Given the description of an element on the screen output the (x, y) to click on. 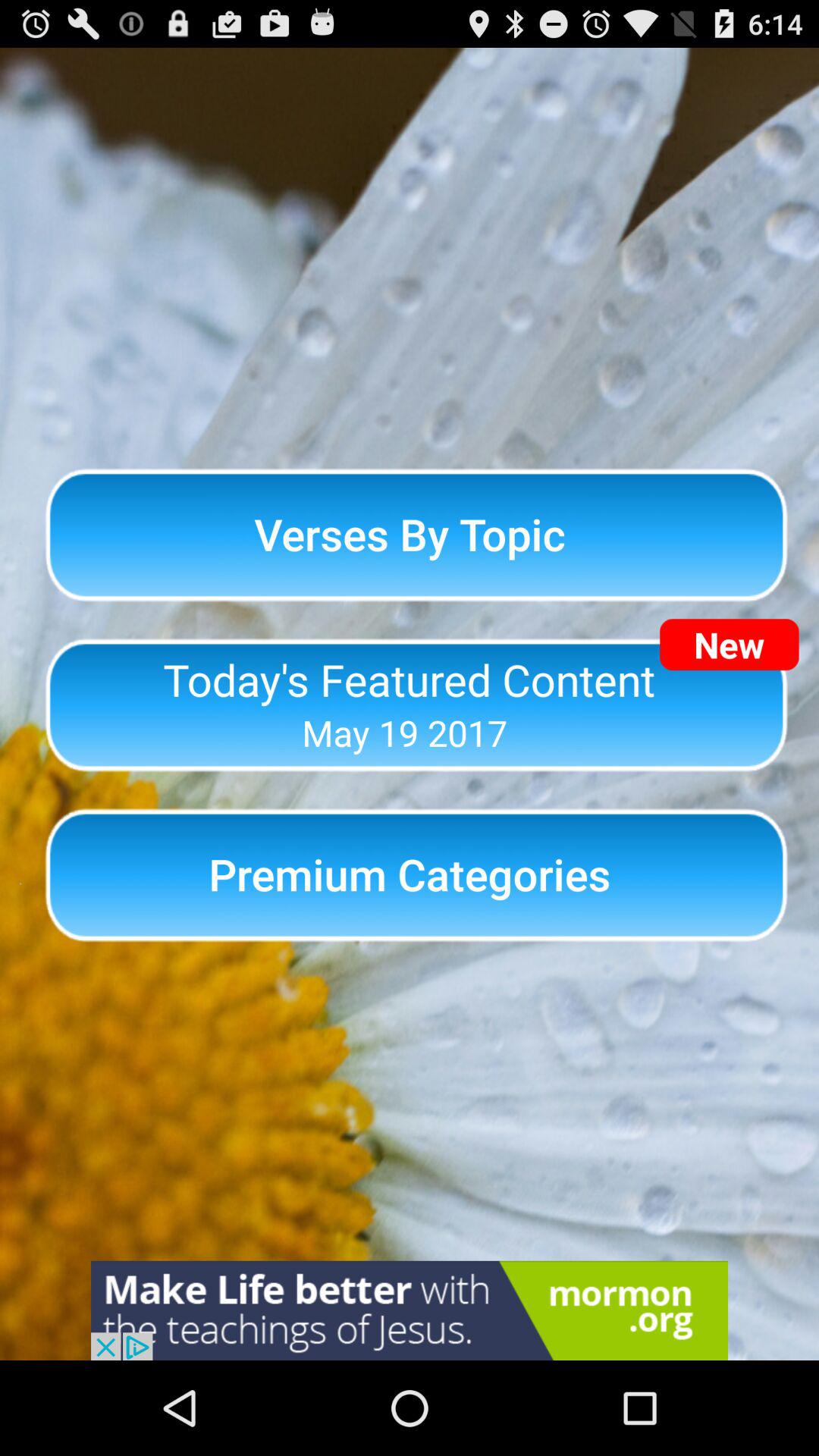
open advertisement (409, 1310)
